Given the description of an element on the screen output the (x, y) to click on. 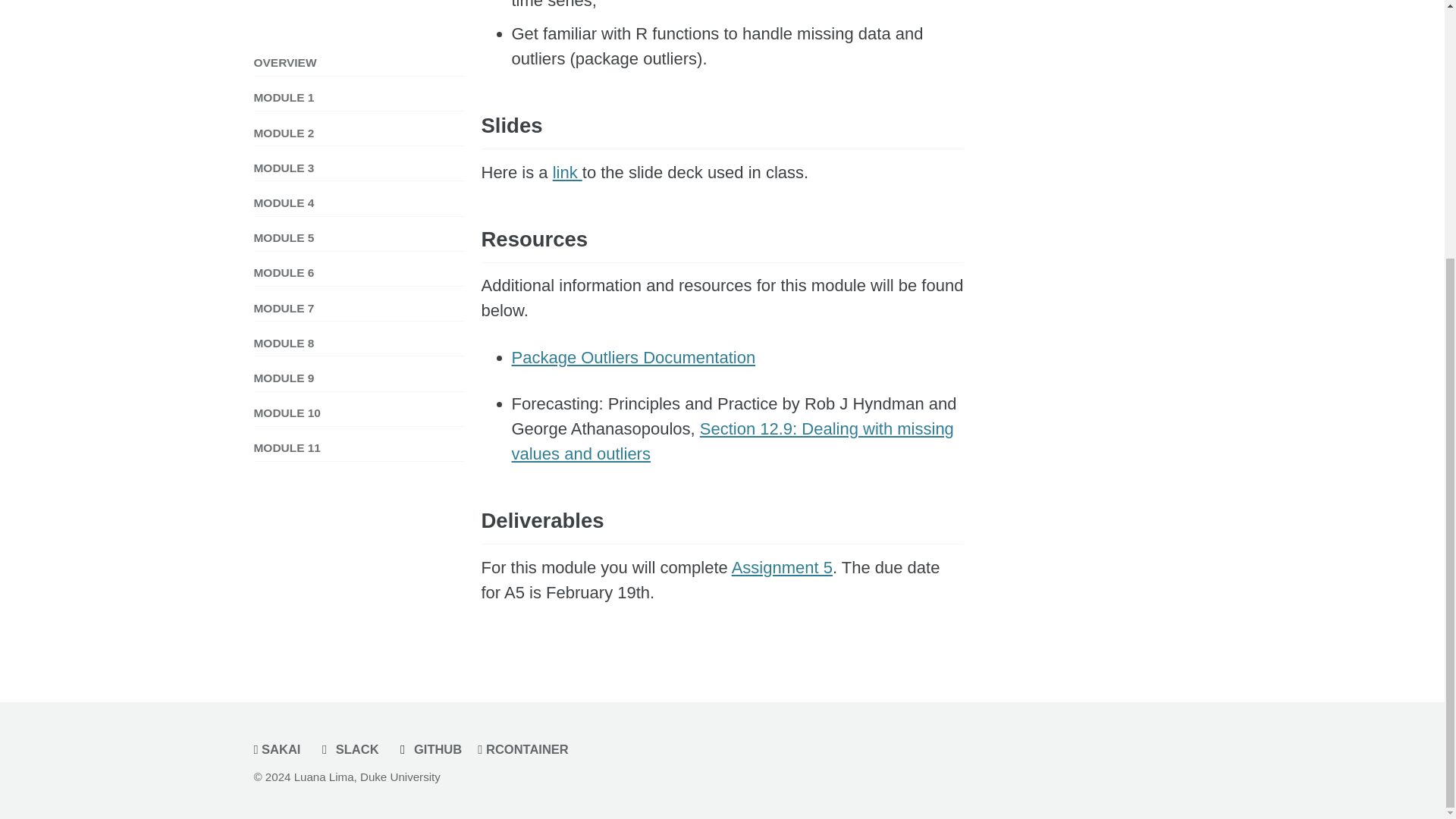
GITHUB (431, 748)
link (567, 171)
MODULE 11 (358, 120)
Package Outliers Documentation (633, 357)
MODULE 8 (358, 15)
Assignment 5 (782, 567)
Section 12.9: Dealing with missing values and outliers (732, 441)
MODULE 9 (358, 49)
MODULE 10 (358, 85)
RCONTAINER (526, 748)
SAKAI (280, 748)
SLACK (352, 748)
